Given the description of an element on the screen output the (x, y) to click on. 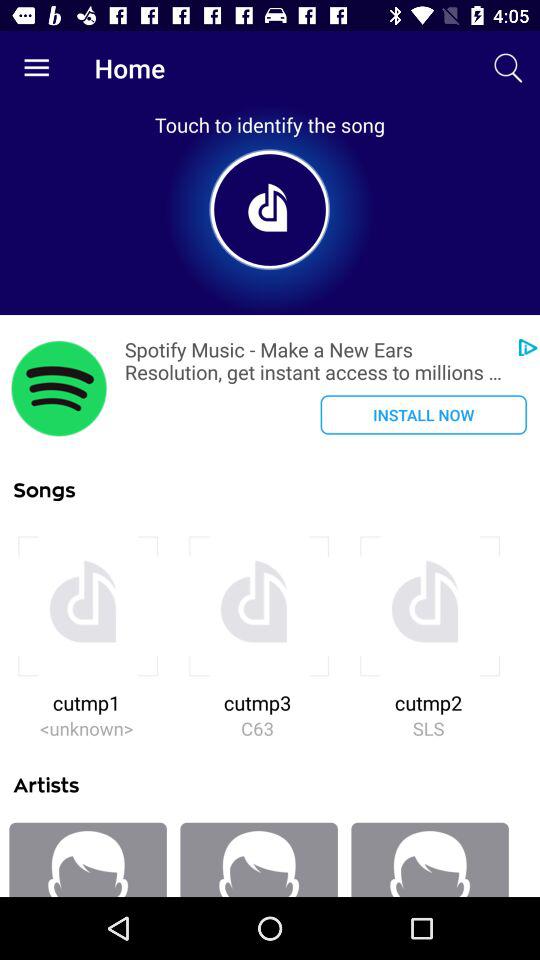
launch the item next to home item (36, 68)
